Given the description of an element on the screen output the (x, y) to click on. 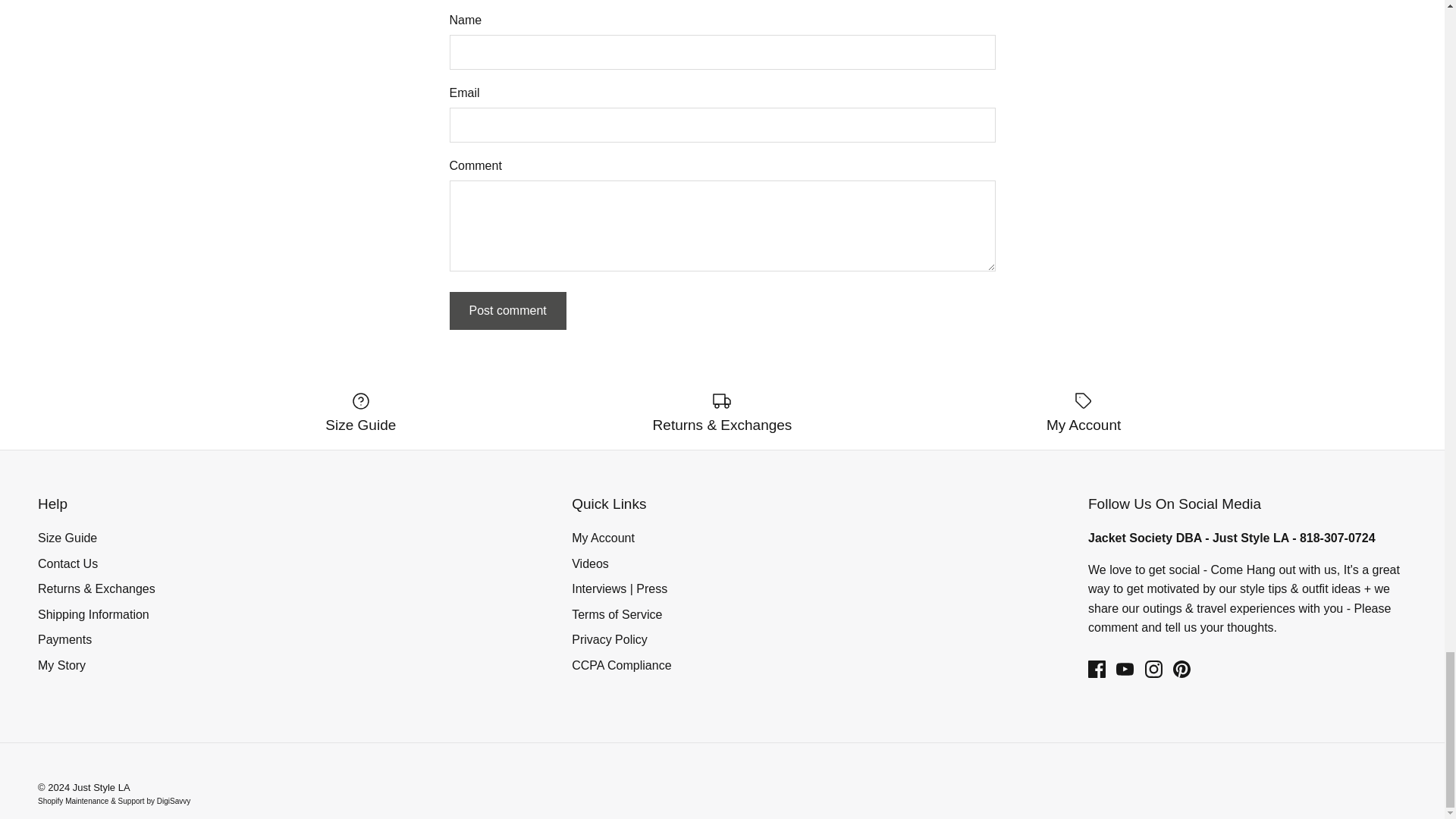
Facebook (1096, 669)
Youtube (1125, 669)
Pinterest (1182, 669)
Post comment (507, 310)
Label (1083, 401)
Instagram (1152, 669)
